Given the description of an element on the screen output the (x, y) to click on. 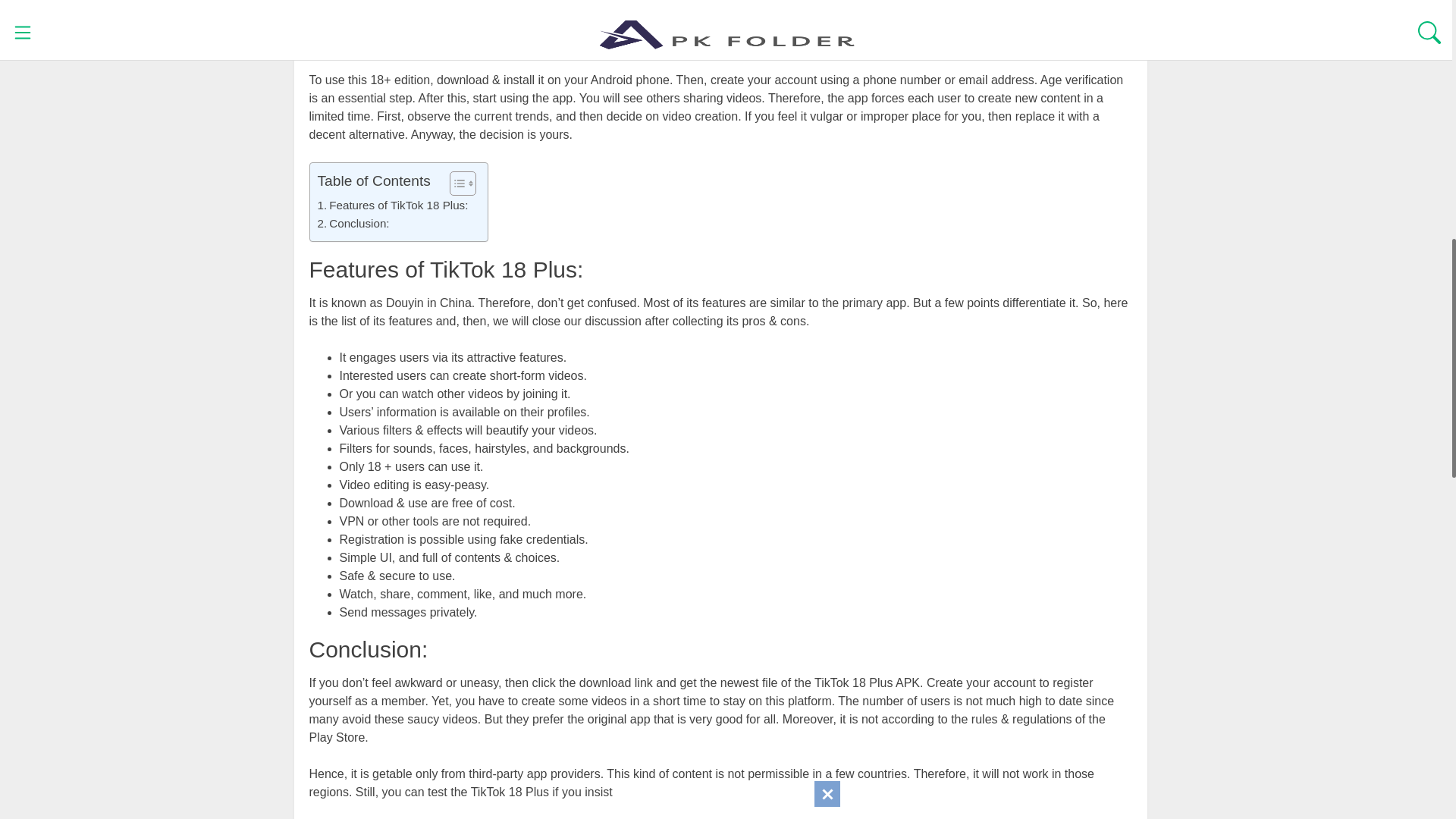
Conclusion: (352, 223)
Features of TikTok 18 Plus: (392, 205)
Conclusion: (352, 223)
Features of TikTok 18 Plus: (392, 205)
